Given the description of an element on the screen output the (x, y) to click on. 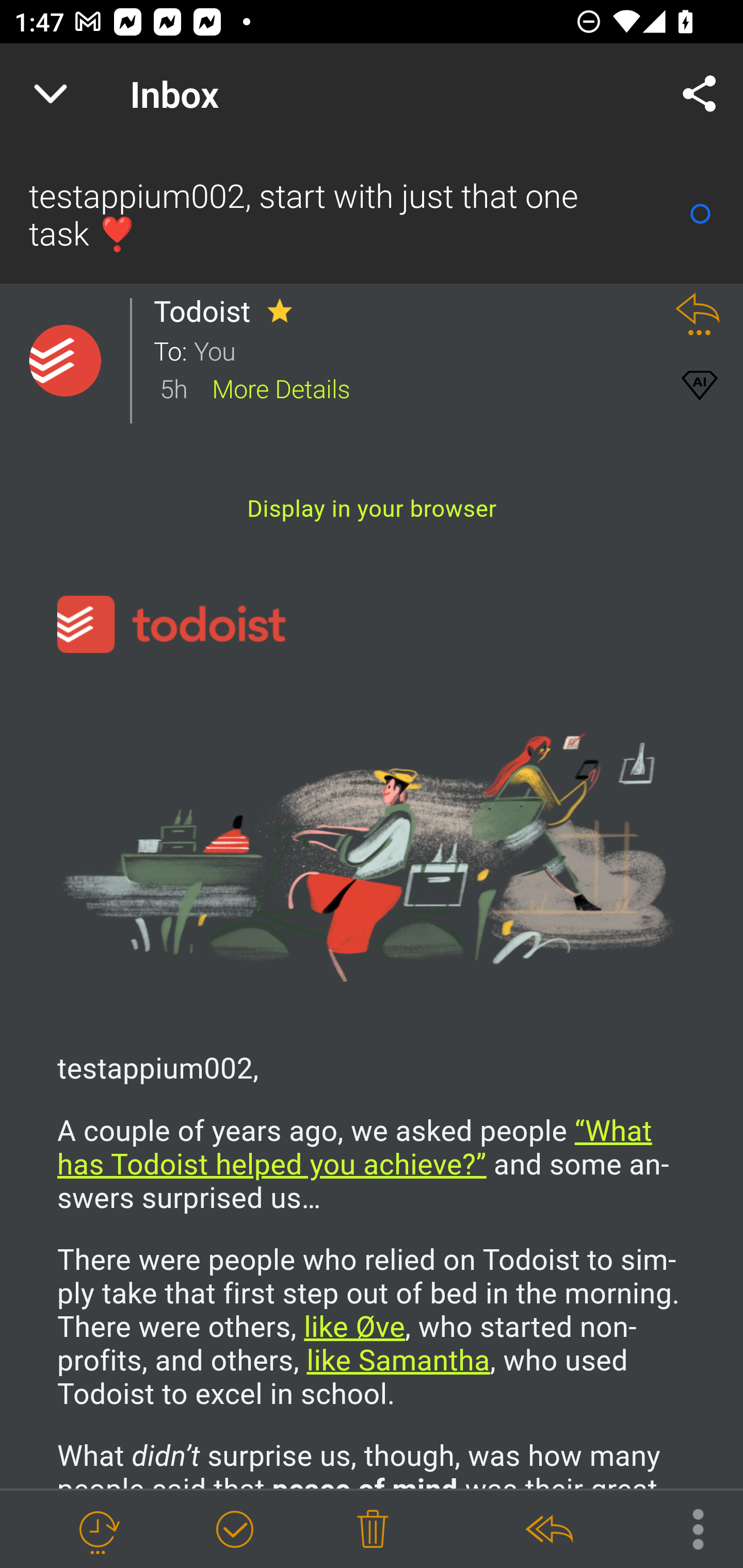
Navigate up (50, 93)
Share (699, 93)
Todoist (207, 310)
Contact Details (64, 360)
You (422, 349)
More Details (280, 387)
Display in your browser (371, 508)
“What has Todoist helped you achieve?” (354, 1147)
like Øve (354, 1327)
like Samantha (397, 1361)
Snooze (97, 1529)
Mark as Done (234, 1529)
Delete (372, 1529)
Reply All (548, 1529)
